Given the description of an element on the screen output the (x, y) to click on. 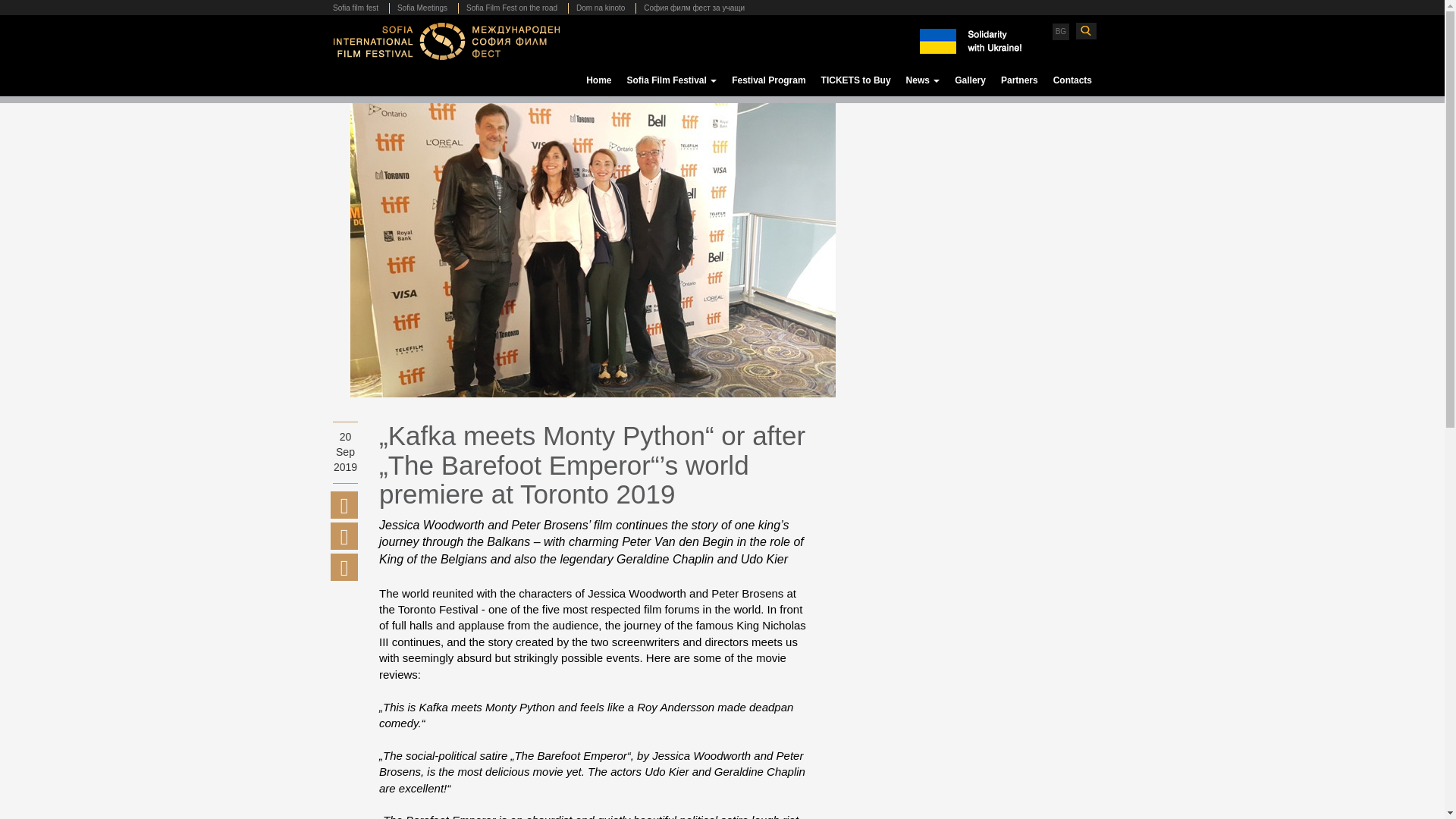
News (922, 80)
BG (1060, 31)
Dom na kinoto (599, 8)
Festival Program (767, 80)
Contacts (1072, 80)
Sofia Film Festival (670, 80)
Partners (1018, 80)
Sofia Meetings (421, 8)
Gallery (969, 80)
Sofia Film Fest on the road (511, 8)
Home (598, 80)
TICKETS to Buy (855, 80)
Sofia film fest (359, 8)
